Given the description of an element on the screen output the (x, y) to click on. 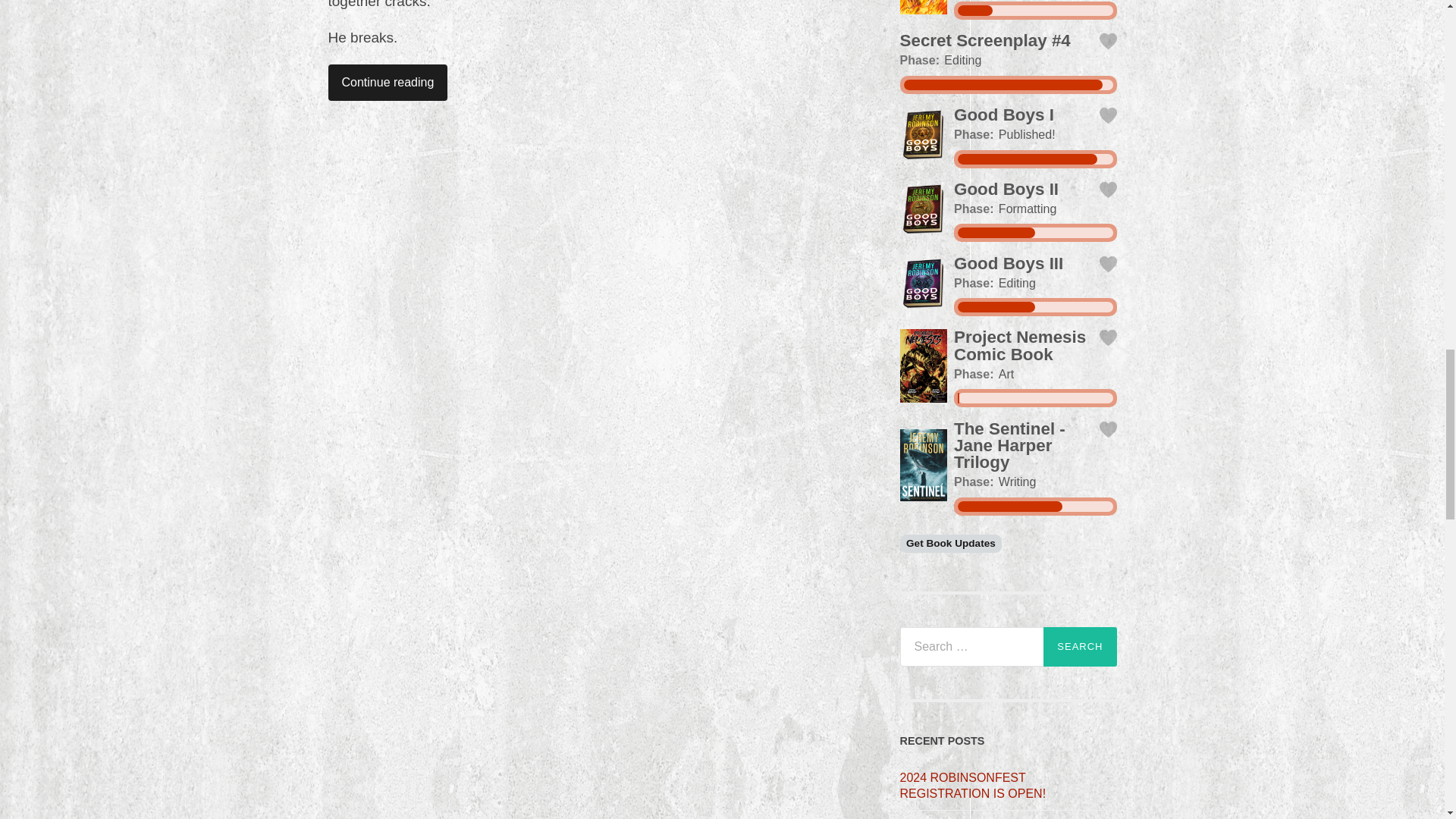
Search (1079, 646)
Search (1079, 646)
Continue reading (386, 82)
Get Book Updates (950, 543)
Search (1079, 646)
